Given the description of an element on the screen output the (x, y) to click on. 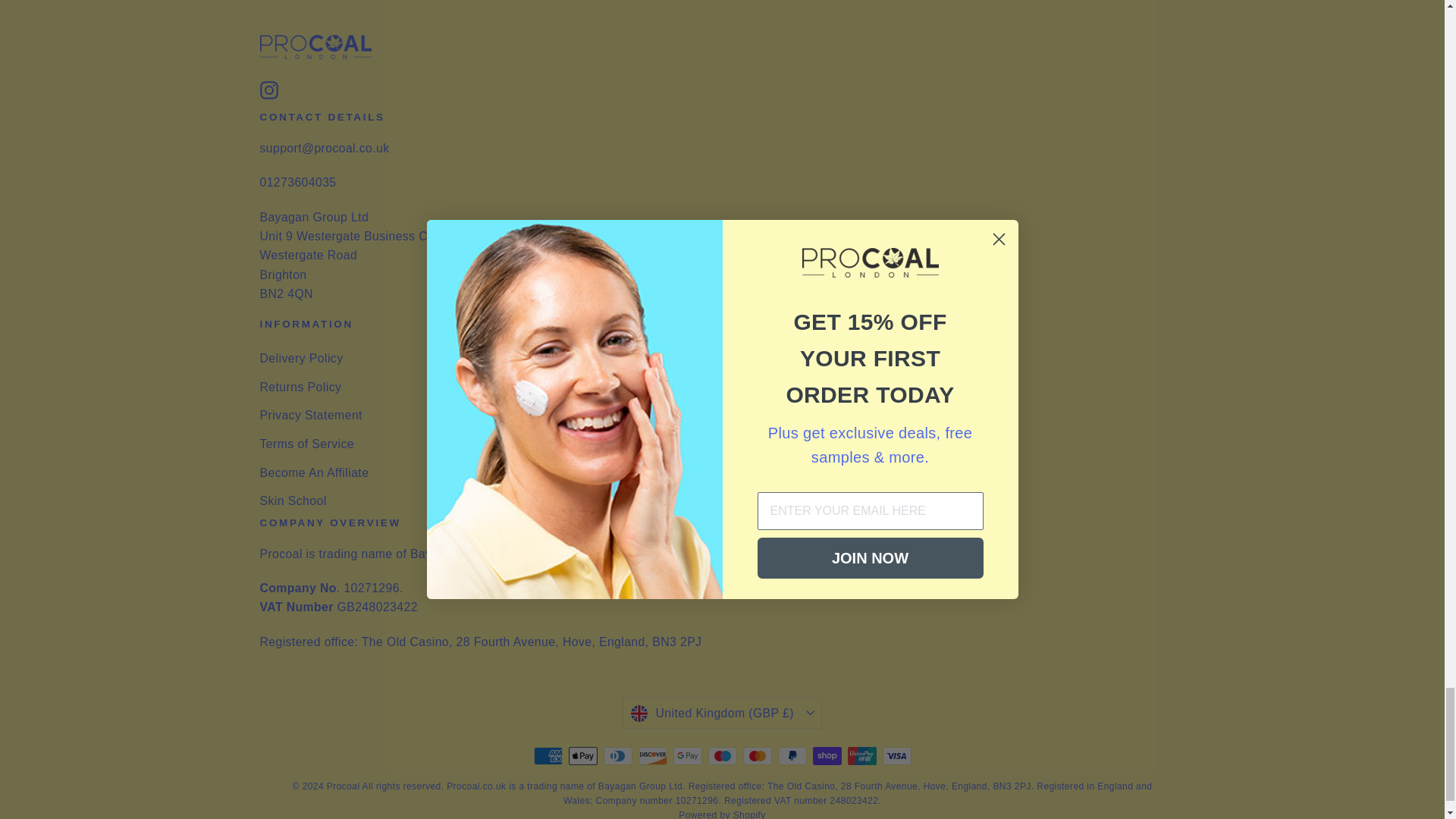
Google Pay (686, 755)
American Express (548, 755)
Maestro (721, 755)
Shop Pay (826, 755)
Mastercard (756, 755)
Apple Pay (582, 755)
Diners Club (617, 755)
Procoal on Instagram (268, 89)
Visa (896, 755)
Union Pay (861, 755)
Discover (652, 755)
PayPal (791, 755)
